Given the description of an element on the screen output the (x, y) to click on. 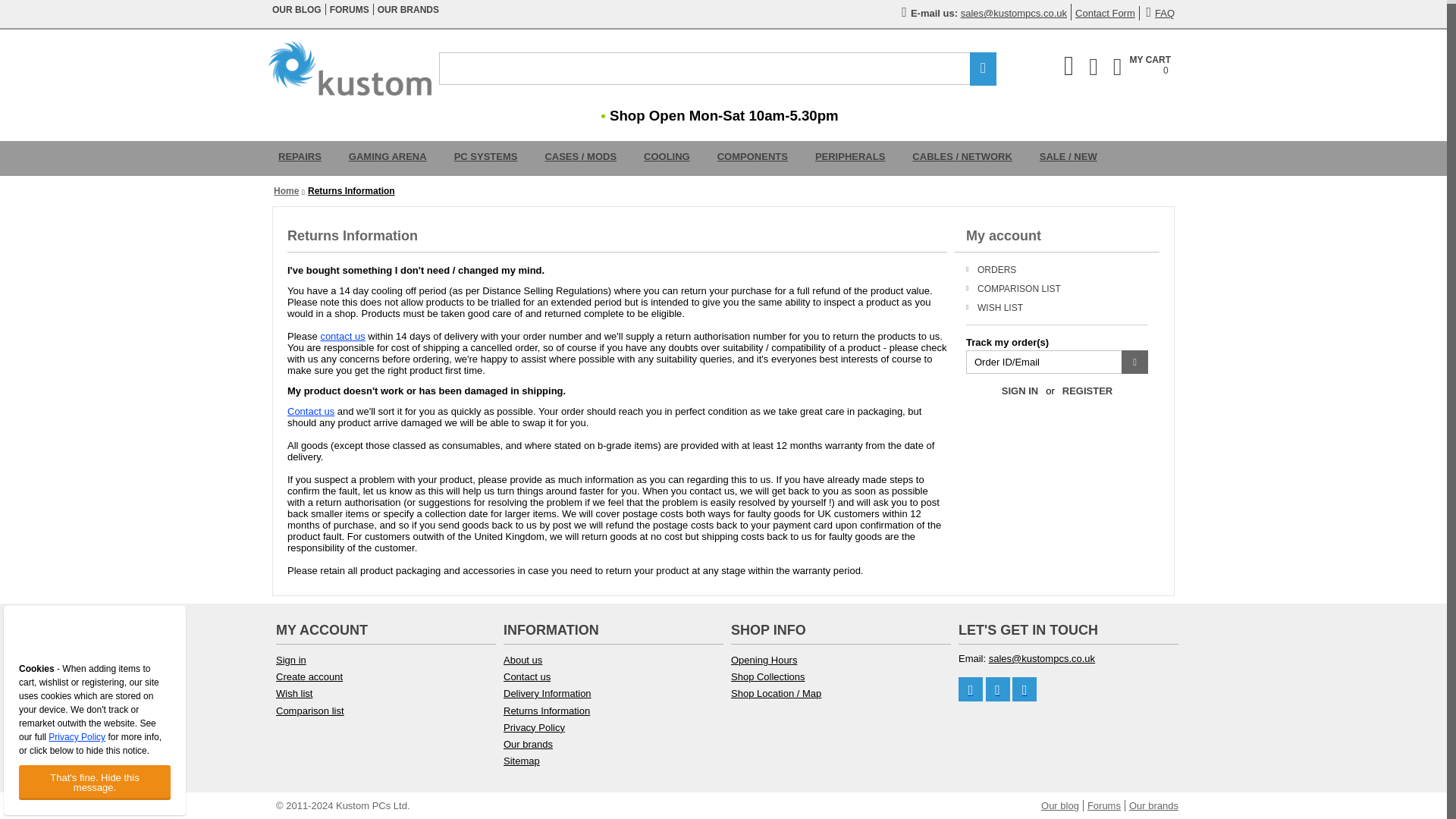
OUR BLOG (296, 9)
REPAIRS (1141, 66)
OUR BRANDS (299, 158)
FORUMS (408, 9)
Contact Form (349, 9)
GAMING ARENA (1105, 12)
Search products (387, 158)
FAQ (717, 68)
